Given the description of an element on the screen output the (x, y) to click on. 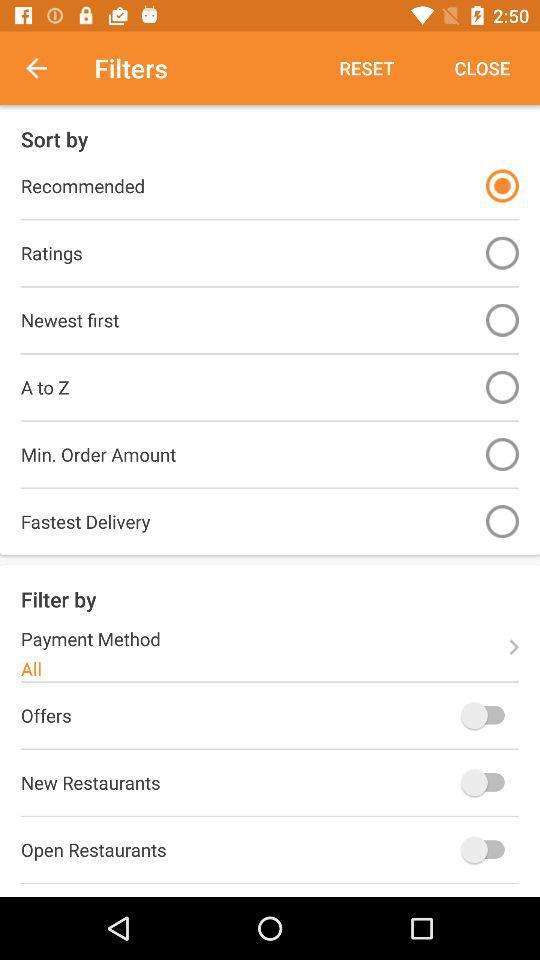
filter on/off toggle (502, 185)
